Given the description of an element on the screen output the (x, y) to click on. 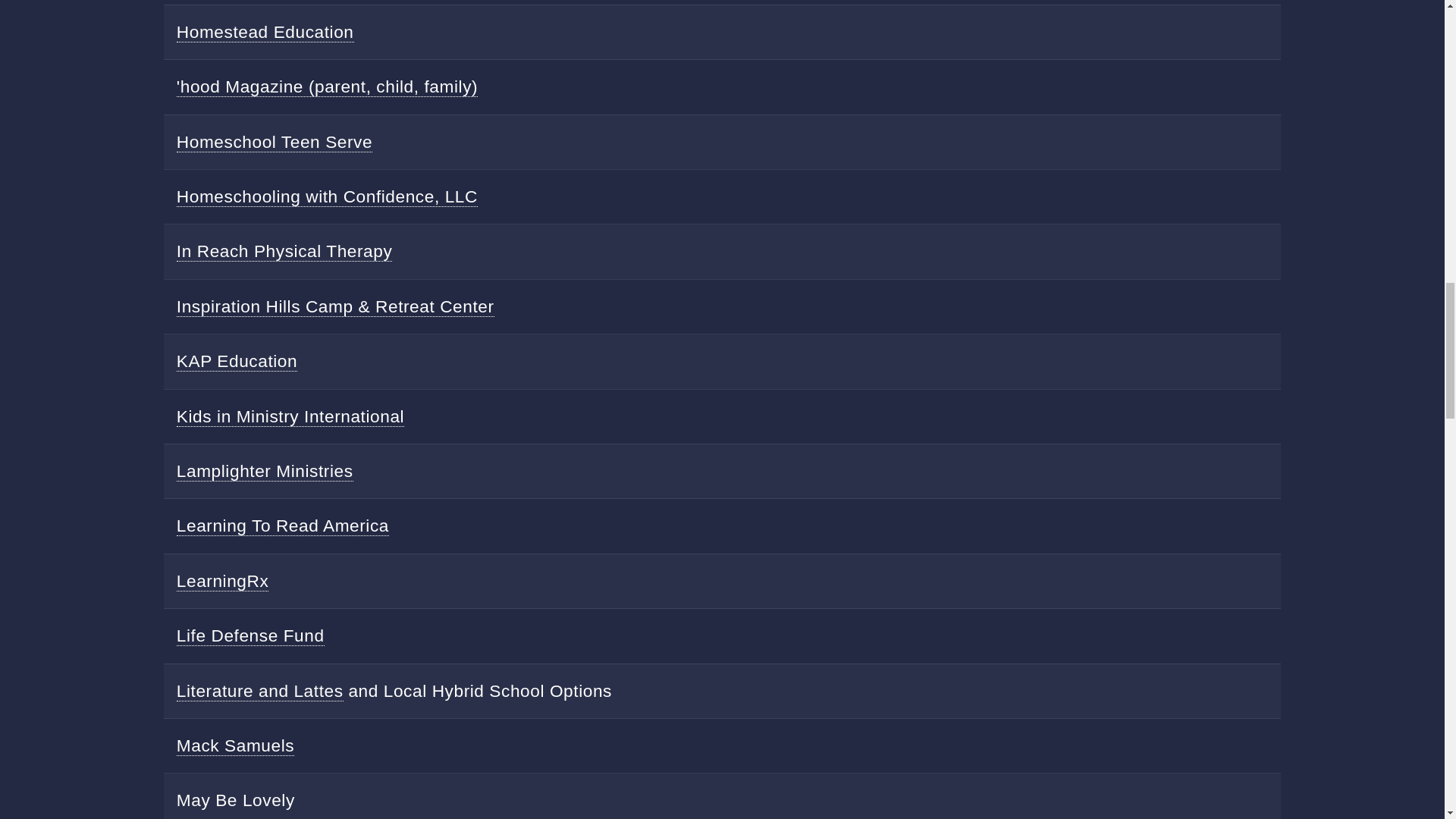
Literature and Lattes (259, 690)
In Reach Physical Therapy (284, 250)
KAP Education (236, 361)
Homestead Education (264, 32)
Homeschooling with Confidence, LLC (326, 196)
Kids in Ministry International (290, 416)
Lamplighter Ministries (264, 471)
Life Defense Fund (250, 635)
Learning To Read America (282, 525)
LearningRx (222, 580)
Mack Samuels (235, 745)
Homeschool Teen Serve (274, 141)
